Given the description of an element on the screen output the (x, y) to click on. 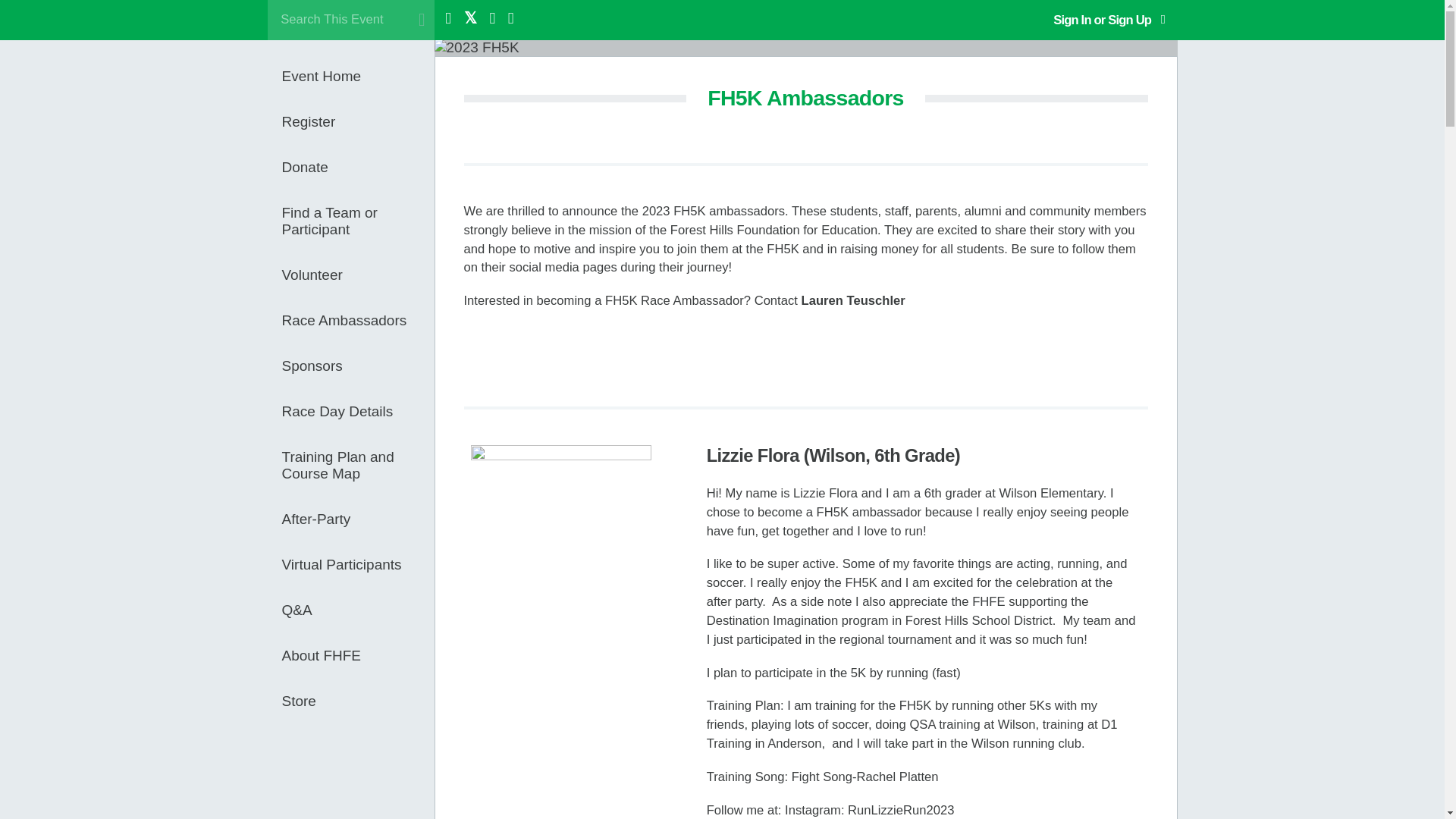
Virtual Participants (357, 565)
Event Home (357, 76)
After-Party (357, 519)
Volunteer (357, 275)
Race Day Details (357, 411)
Register (357, 121)
Sign In or Sign Up (1109, 20)
About FHFE (357, 655)
Sponsors (357, 366)
Training Plan and Course Map (357, 465)
